Given the description of an element on the screen output the (x, y) to click on. 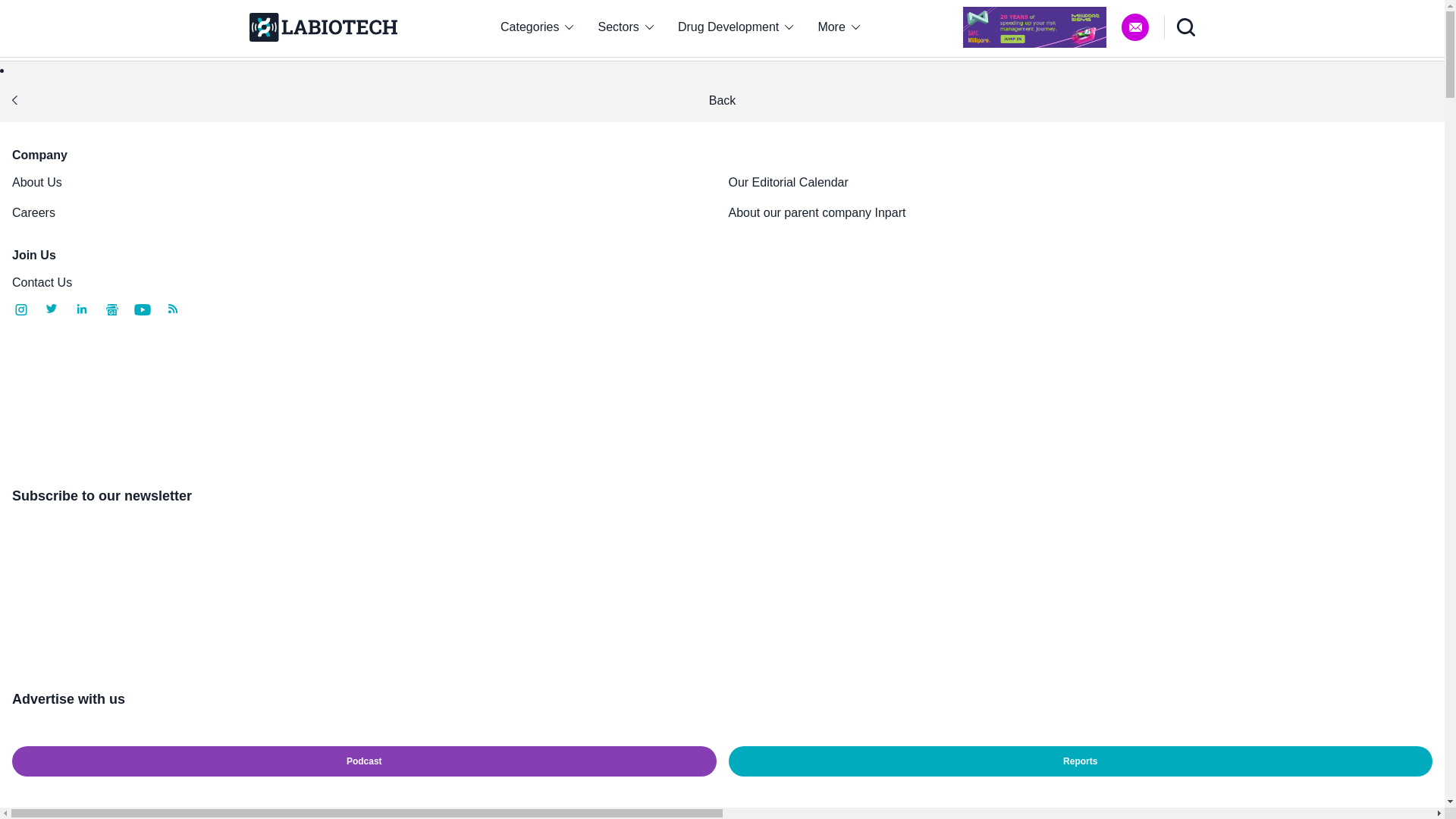
Sectors (625, 27)
Categories (536, 27)
Labiotech.eu (322, 27)
Drug Development (735, 27)
